Given the description of an element on the screen output the (x, y) to click on. 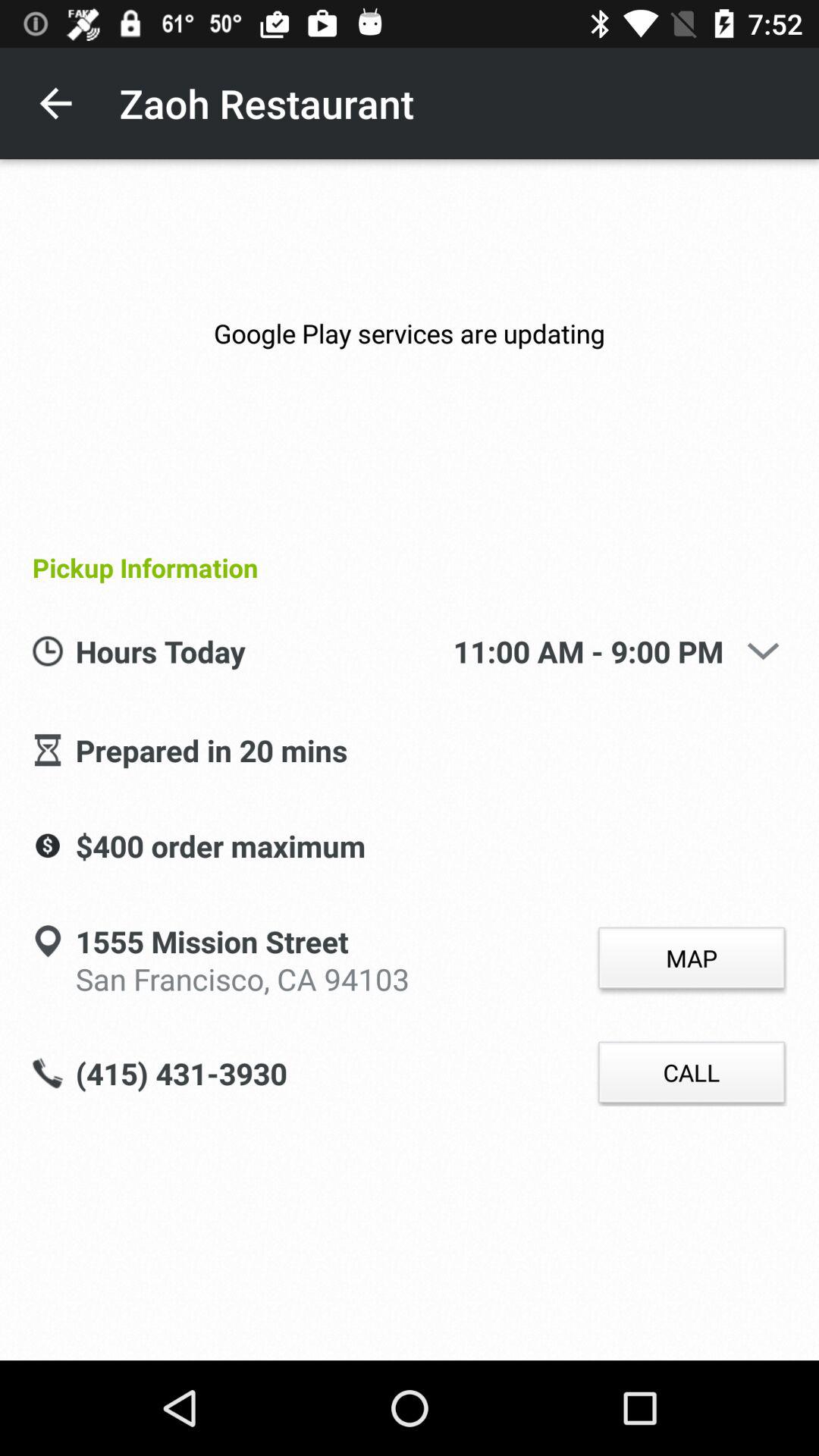
press item next to pickup information icon (781, 567)
